Given the description of an element on the screen output the (x, y) to click on. 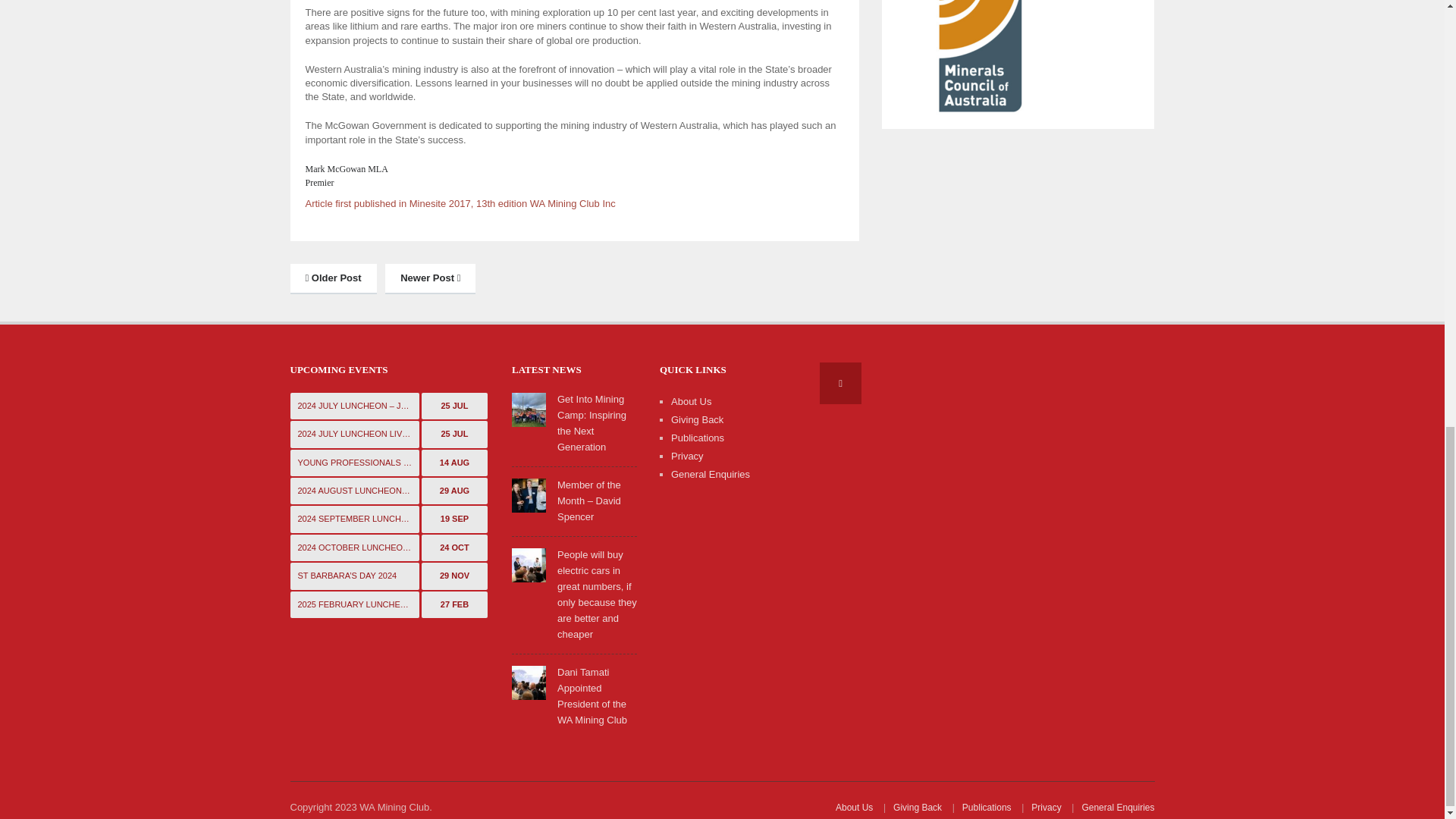
Get Into Mining Camp: Inspiring the Next Generation (529, 408)
Dani Tamati Appointed President of the WA Mining Club (529, 681)
